Given the description of an element on the screen output the (x, y) to click on. 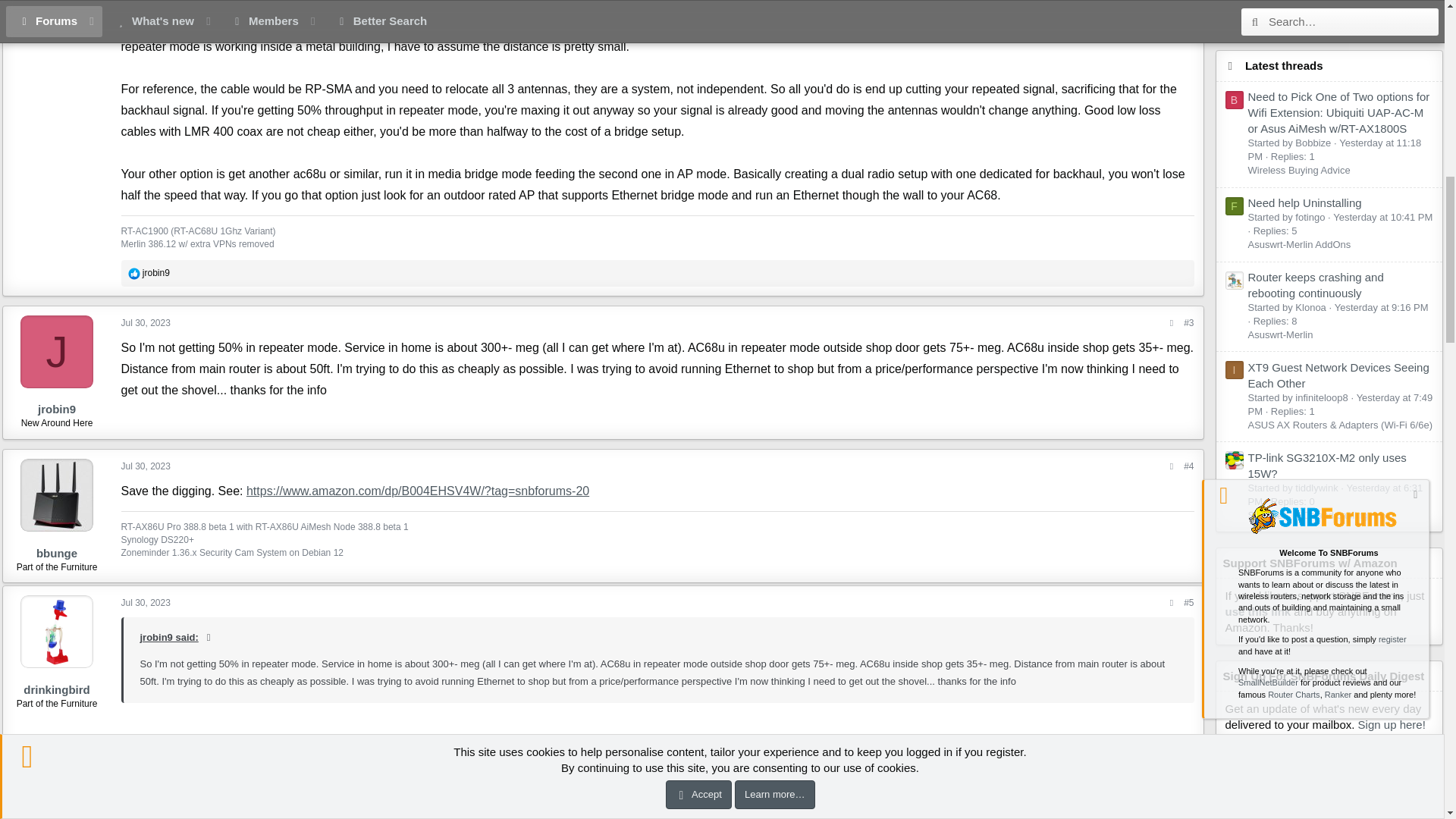
Like (133, 273)
Jul 30, 2023 at 4:42 PM (145, 602)
Jul 30, 2023 at 6:43 AM (145, 322)
Jul 30, 2023 at 6:53 AM (145, 466)
